Given the description of an element on the screen output the (x, y) to click on. 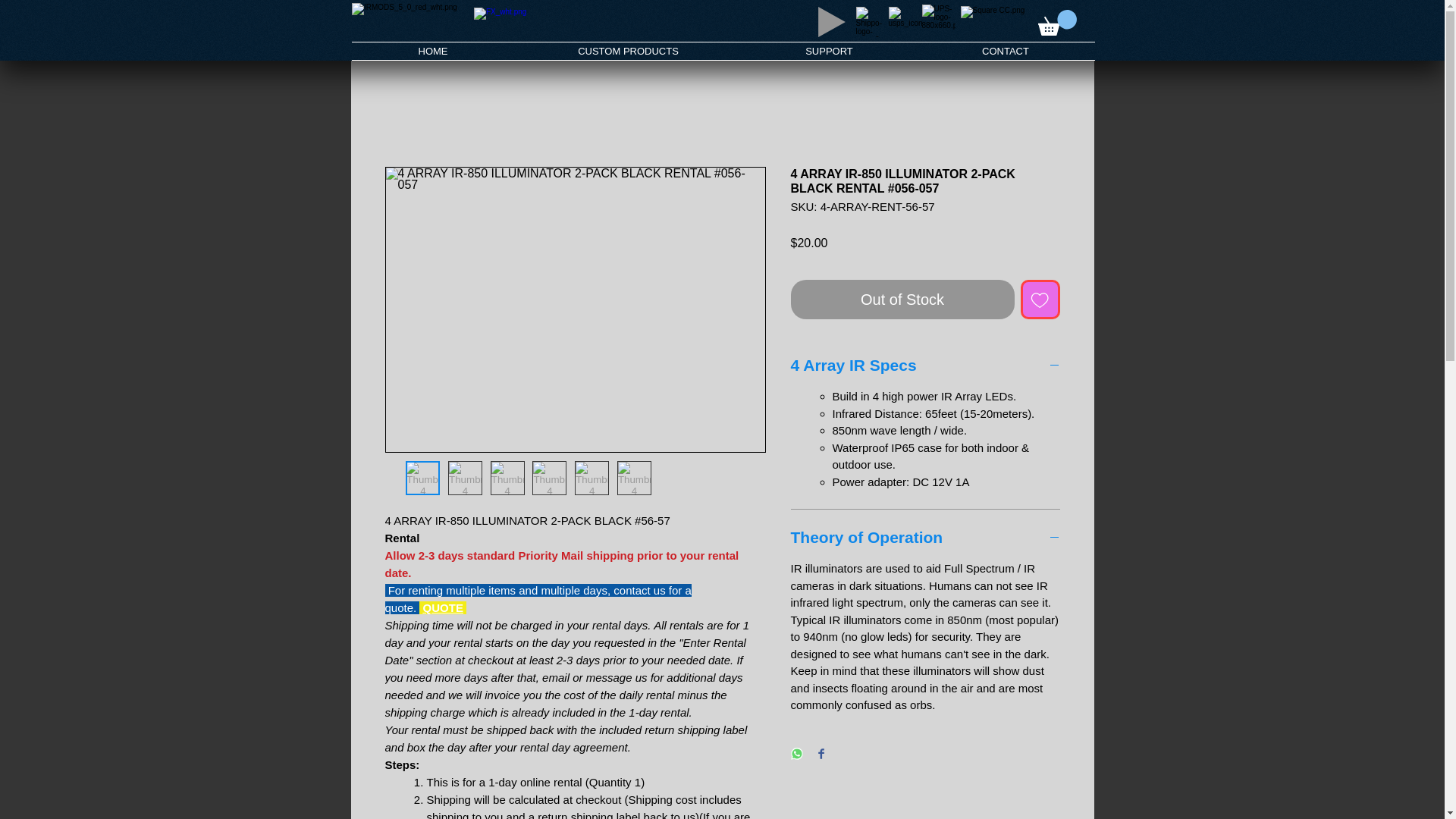
Theory of Operation (924, 537)
Out of Stock (901, 299)
HOME (433, 50)
QUOTE (443, 607)
4 Array IR Specs (924, 365)
